Given the description of an element on the screen output the (x, y) to click on. 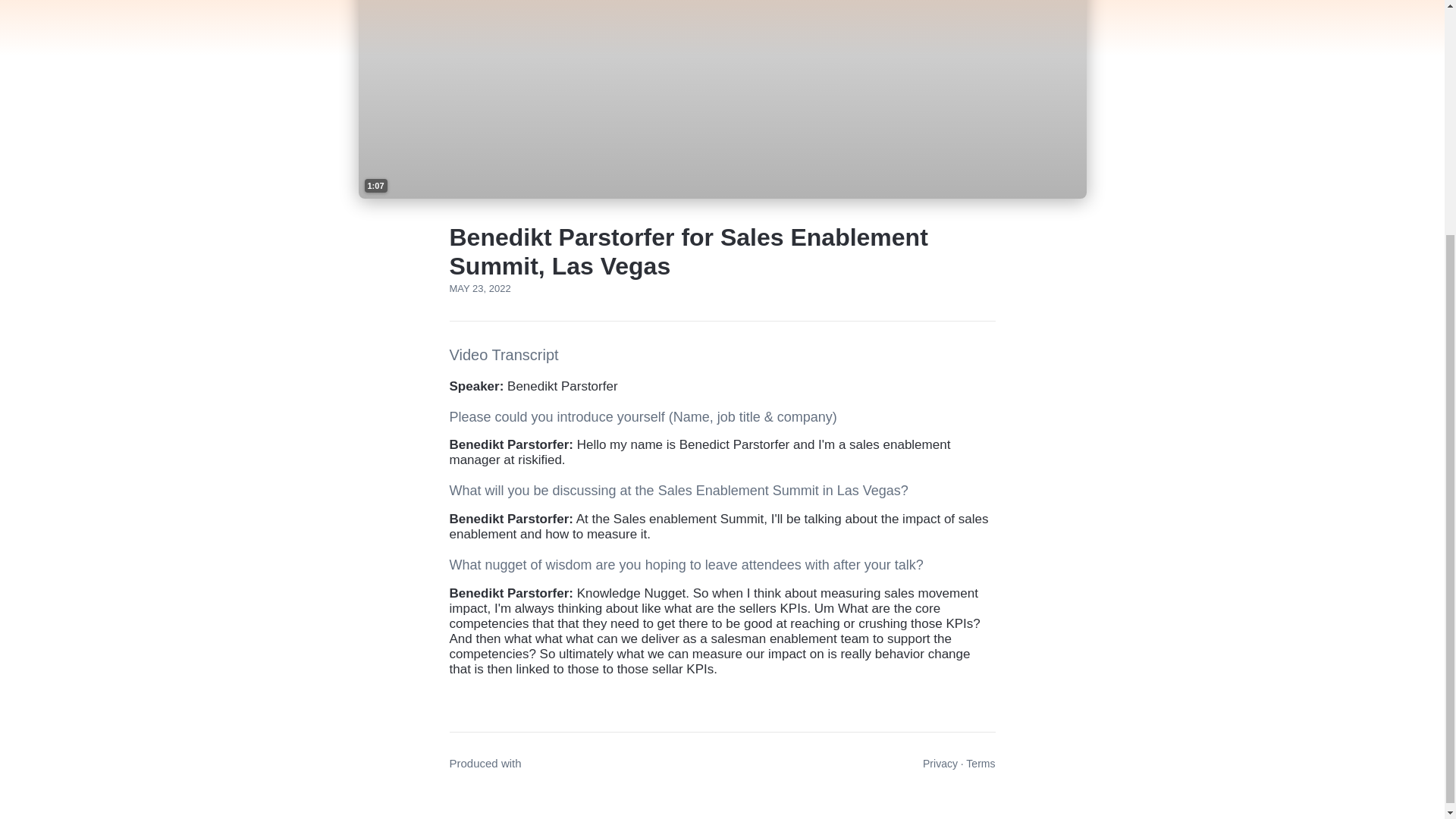
Vocal Video (554, 762)
Privacy (940, 763)
Terms (980, 763)
